Given the description of an element on the screen output the (x, y) to click on. 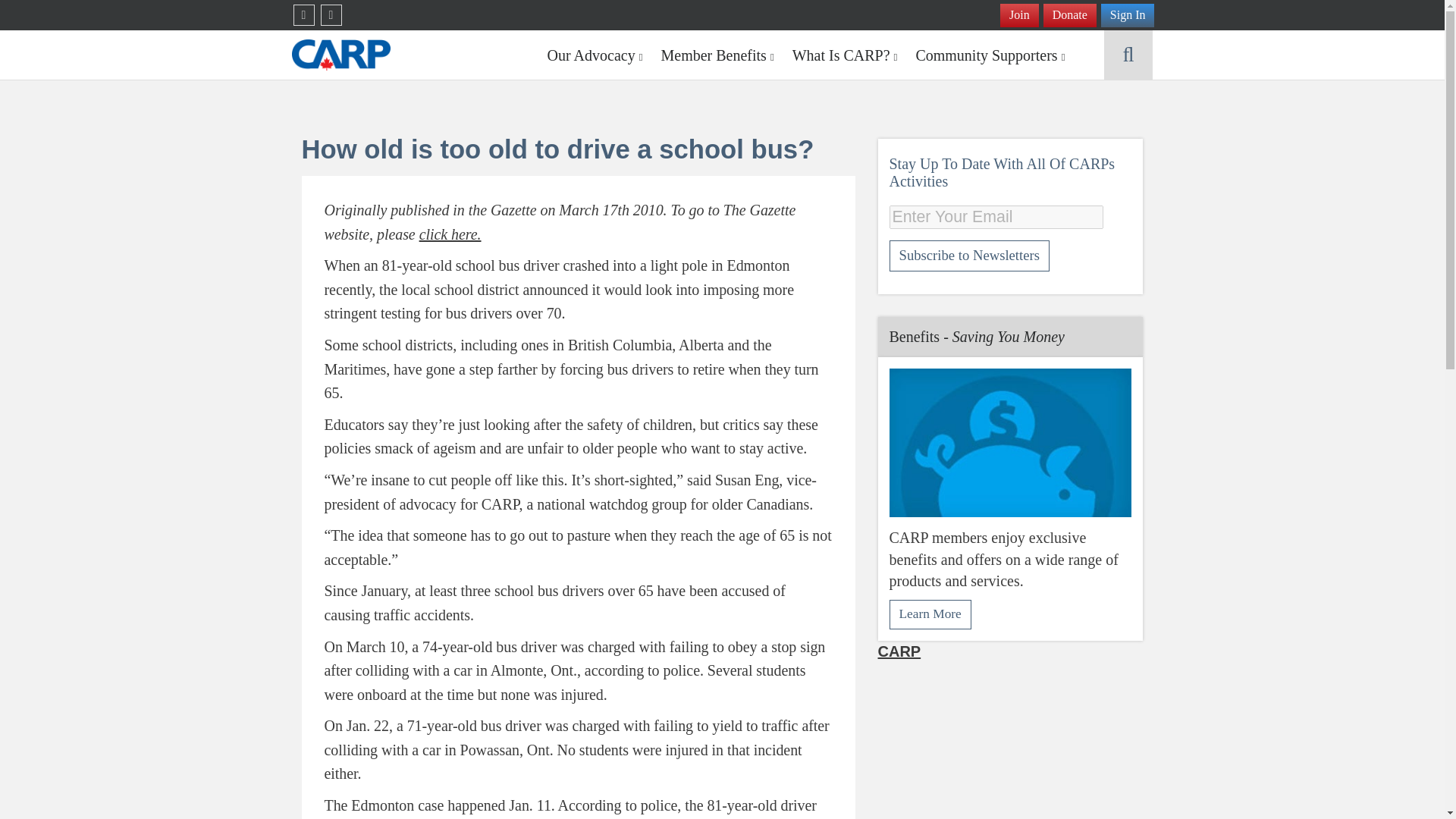
Join (1019, 15)
Donate (1069, 15)
Sign In (1127, 15)
